Given the description of an element on the screen output the (x, y) to click on. 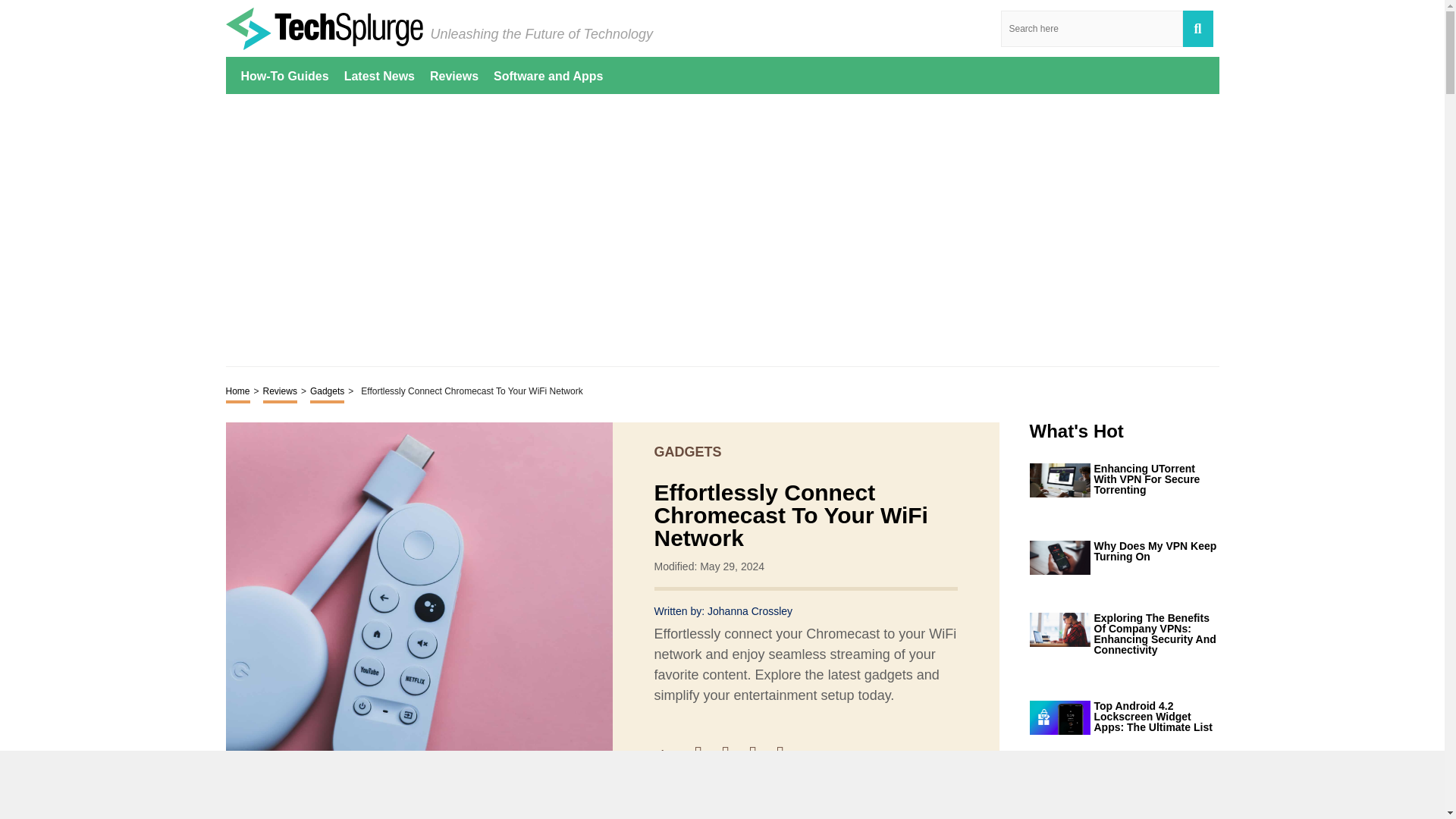
Share on Facebook (705, 753)
Advertisement (721, 229)
Reviews (454, 74)
Home (237, 392)
Latest News (378, 74)
Share on Twitter (732, 753)
Johanna Crossley (749, 611)
Share on WhatsApp (786, 753)
Share on Pinterest (759, 753)
How-To Guides (285, 74)
